Given the description of an element on the screen output the (x, y) to click on. 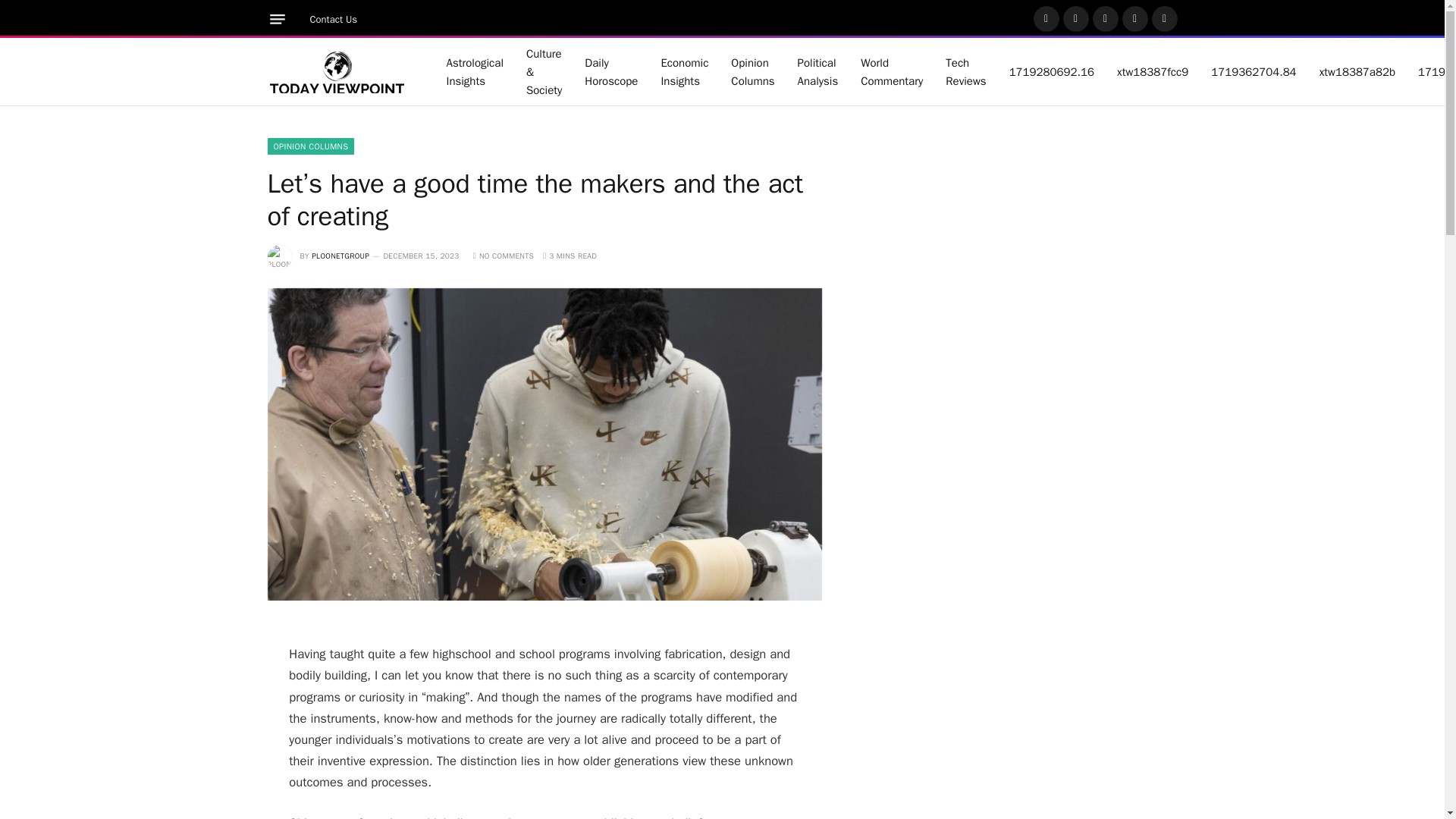
Today View Point (336, 70)
Posts by ploonetgroup (340, 255)
